Given the description of an element on the screen output the (x, y) to click on. 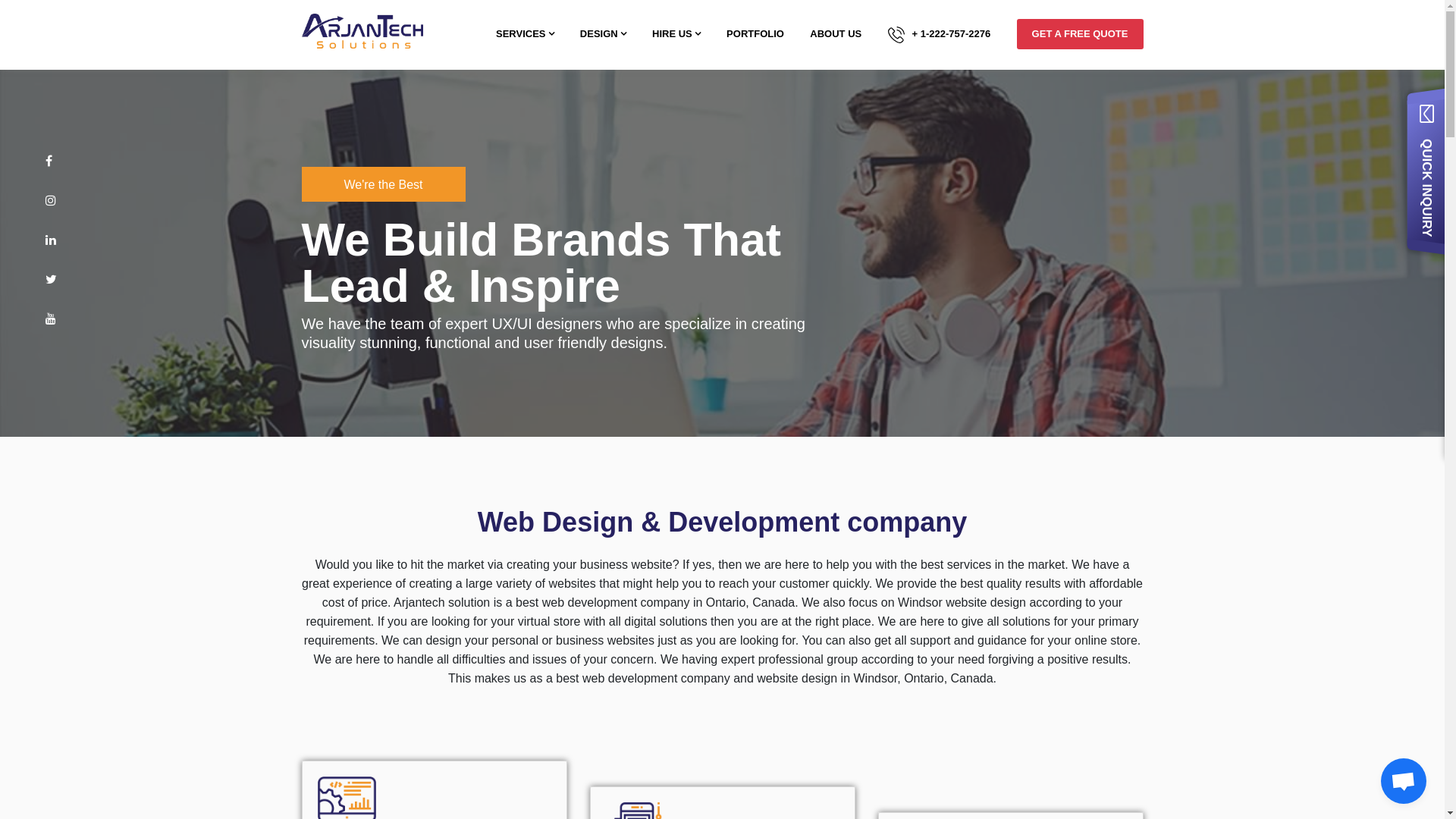
We're the Best Element type: text (383, 183)
SERVICES Element type: text (524, 34)
HIRE US Element type: text (676, 34)
GET A FREE QUOTE Element type: text (1079, 33)
ABOUT US Element type: text (835, 34)
PORTFOLIO Element type: text (755, 34)
DESIGN Element type: text (603, 34)
+ 1-222-757-2276 Element type: text (939, 34)
